Given the description of an element on the screen output the (x, y) to click on. 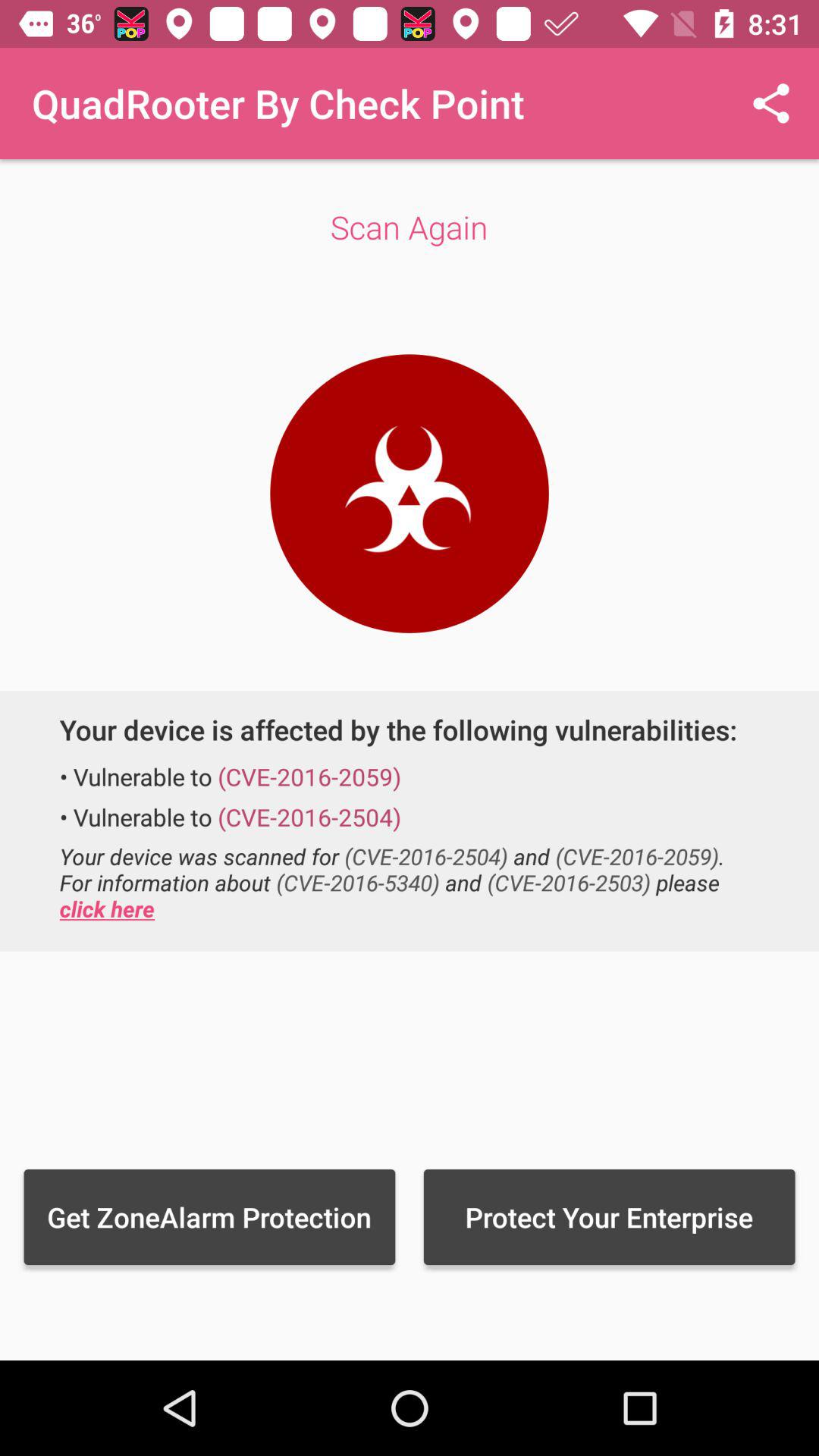
turn off the item to the right of the quadrooter by check item (771, 103)
